Given the description of an element on the screen output the (x, y) to click on. 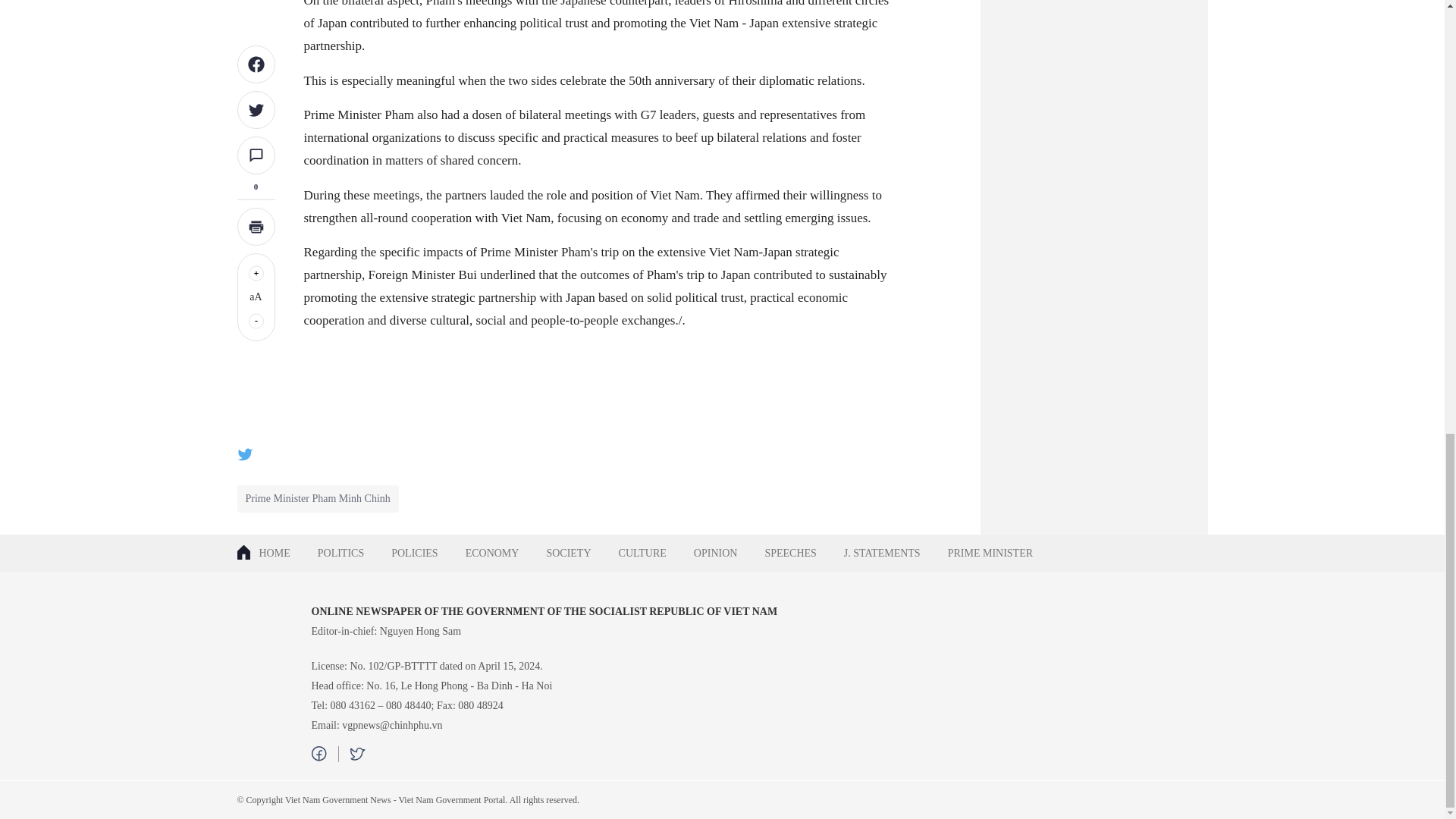
CULTURE (642, 552)
J. STATEMENTS (881, 552)
POLITICS (340, 552)
SOCIETY (568, 552)
Prime Minister Pham Minh Chinh (318, 498)
HOME (268, 552)
POLICIES (414, 552)
SPEECHES (790, 552)
ECONOMY (491, 552)
OPINION (715, 552)
